Given the description of an element on the screen output the (x, y) to click on. 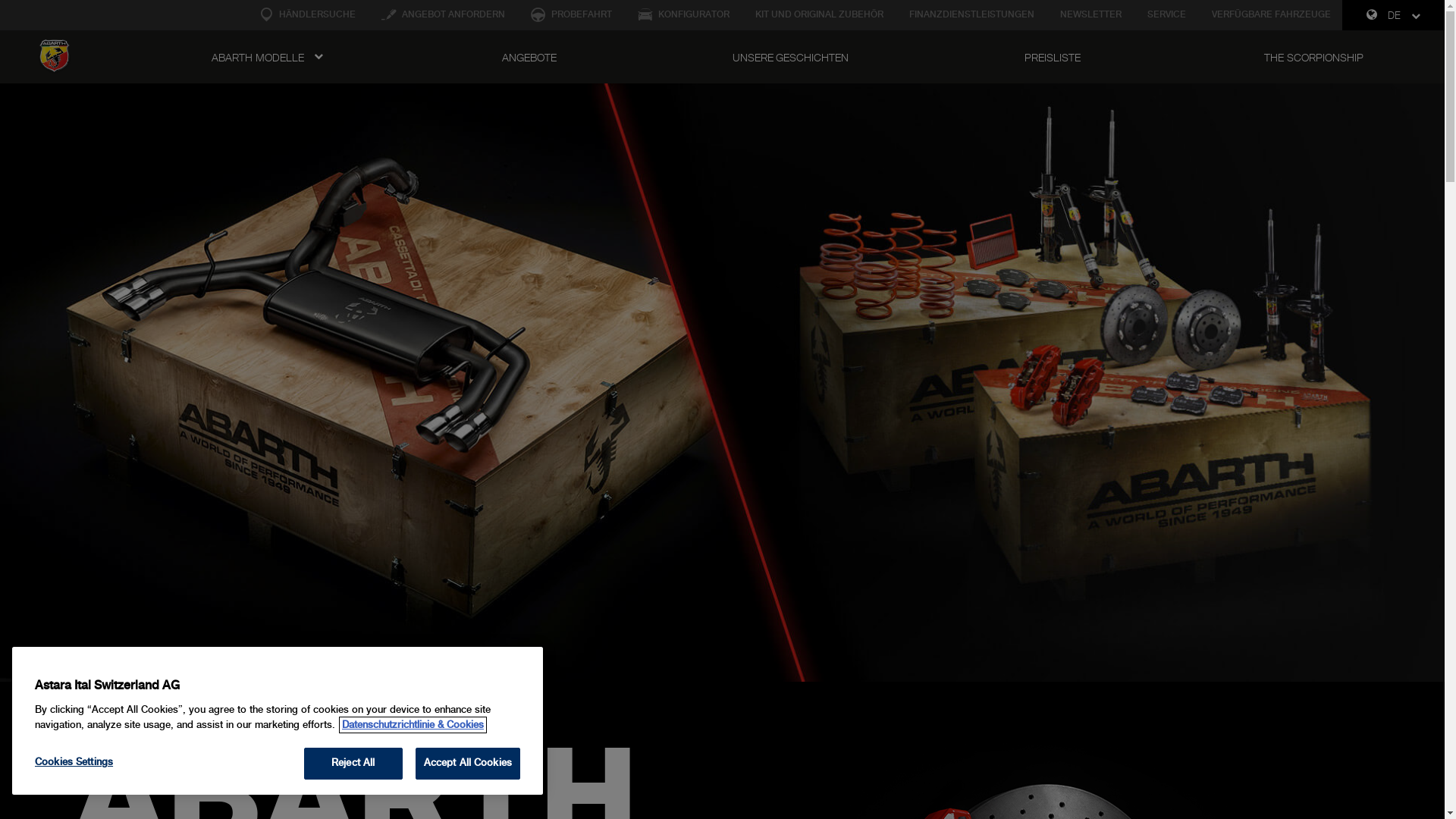
UNSERE GESCHICHTEN Element type: text (790, 57)
Datenschutzrichtlinie & Cookies Element type: text (412, 724)
Cookies Settings Element type: text (100, 762)
ANGEBOTE Element type: text (528, 57)
FINANZDIENSTLEISTUNGEN Element type: text (971, 14)
NEWSLETTER Element type: text (1090, 14)
PROBEFAHRT Element type: text (570, 14)
ANGEBOT ANFORDERN Element type: text (443, 14)
SERVICE Element type: text (1166, 14)
ABARTH MODELLE Element type: text (267, 57)
Accept All Cookies Element type: text (467, 763)
Reject All Element type: text (353, 763)
PREISLISTE Element type: text (1052, 57)
THE SCORPIONSHIP Element type: text (1313, 57)
KONFIGURATOR Element type: text (683, 14)
